Given the description of an element on the screen output the (x, y) to click on. 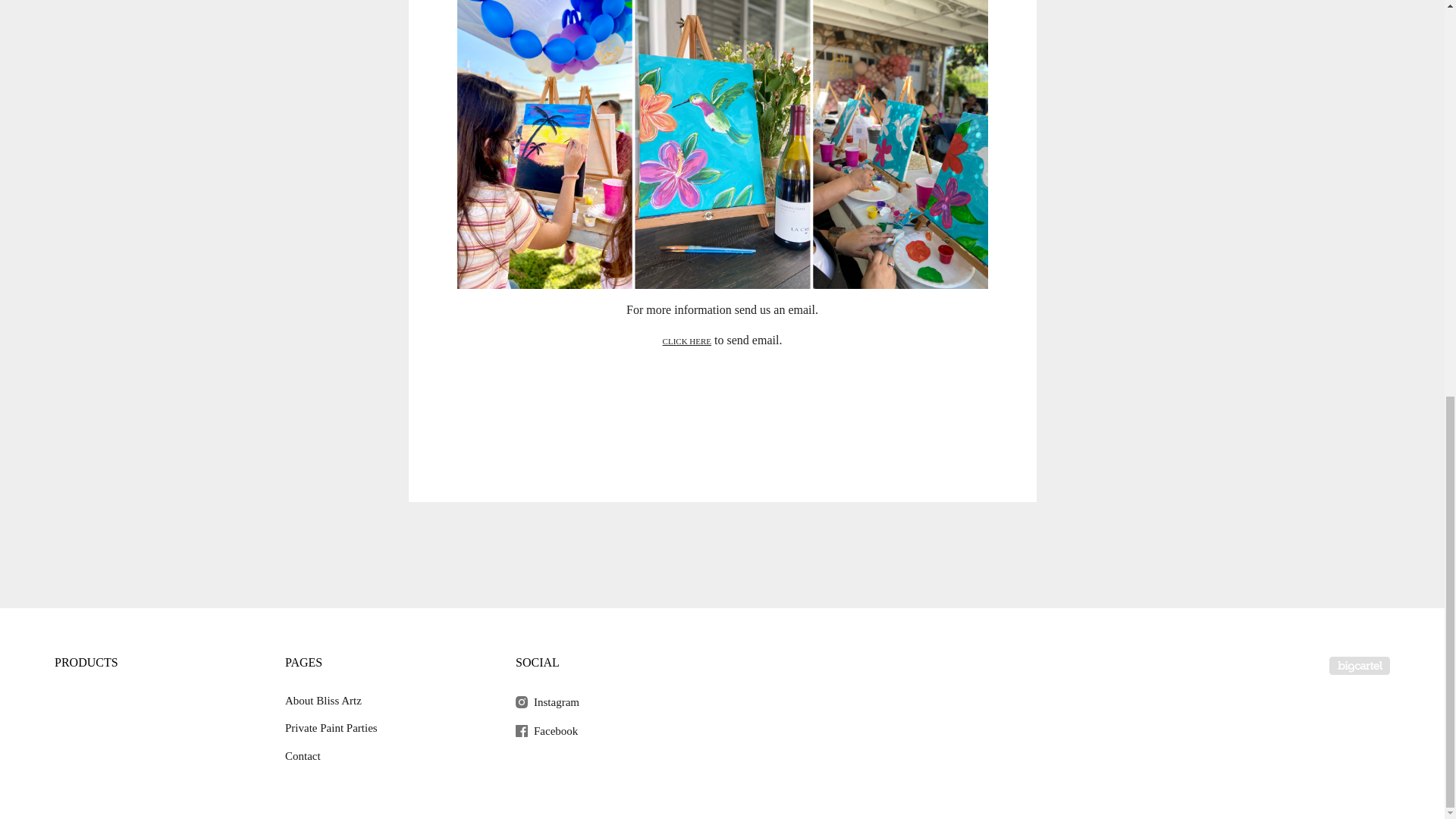
Private Paint Parties (380, 728)
Instagram (611, 700)
Contact (380, 756)
Contact (380, 756)
Facebook (611, 730)
PRODUCTS (86, 662)
Products (86, 662)
View About Bliss Artz (380, 700)
View Private Paint Parties (380, 728)
Instagram (611, 700)
